Given the description of an element on the screen output the (x, y) to click on. 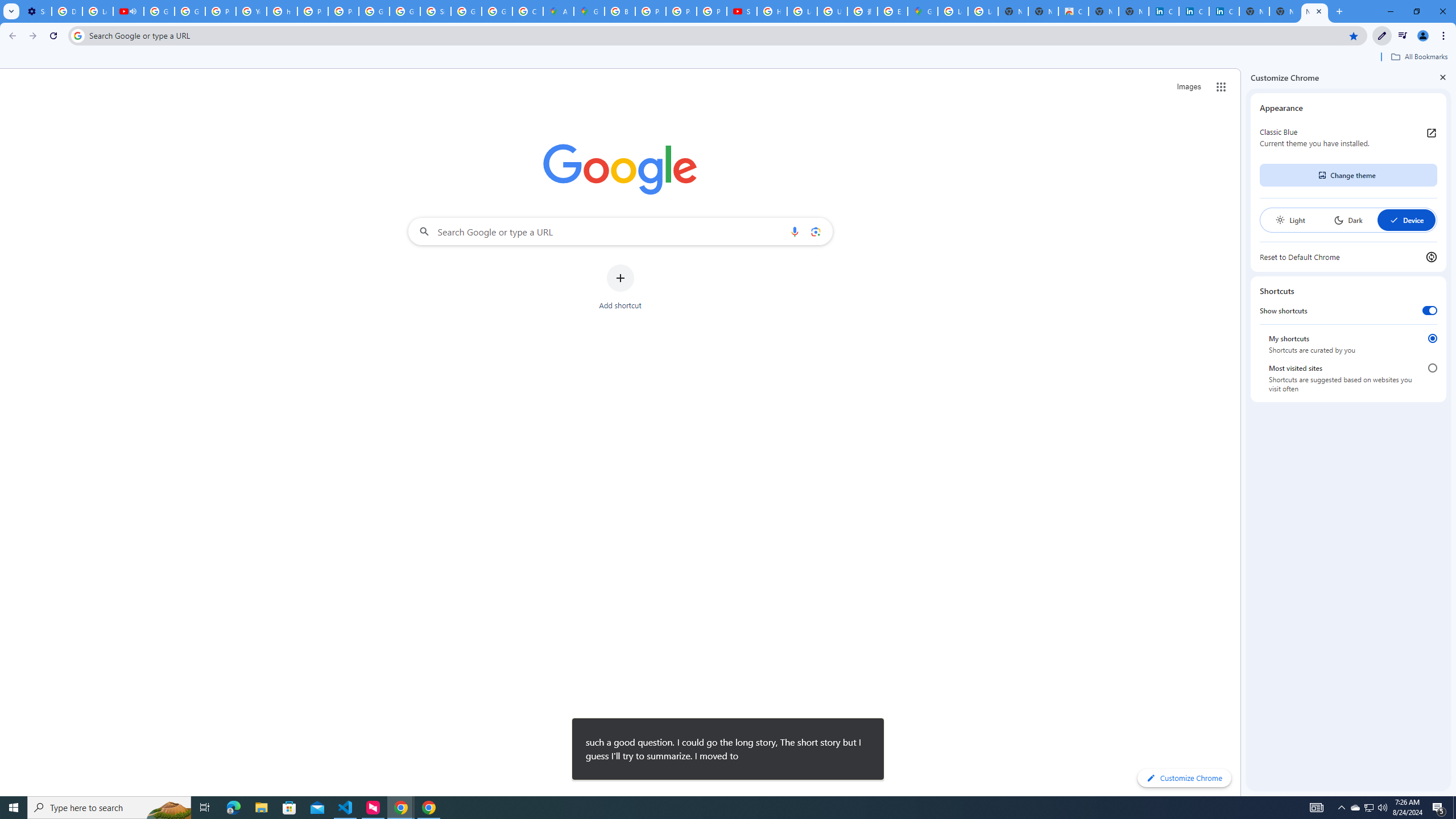
Classic Blue Current theme you have installed. (1347, 137)
Privacy Help Center - Policies Help (650, 11)
Light (1289, 219)
Subscriptions - YouTube (741, 11)
Learn how to find your photos - Google Photos Help (97, 11)
Privacy Help Center - Policies Help (220, 11)
Privacy Help Center - Policies Help (681, 11)
Show shortcuts (1429, 310)
Add shortcut (620, 287)
Sign in - Google Accounts (434, 11)
